Given the description of an element on the screen output the (x, y) to click on. 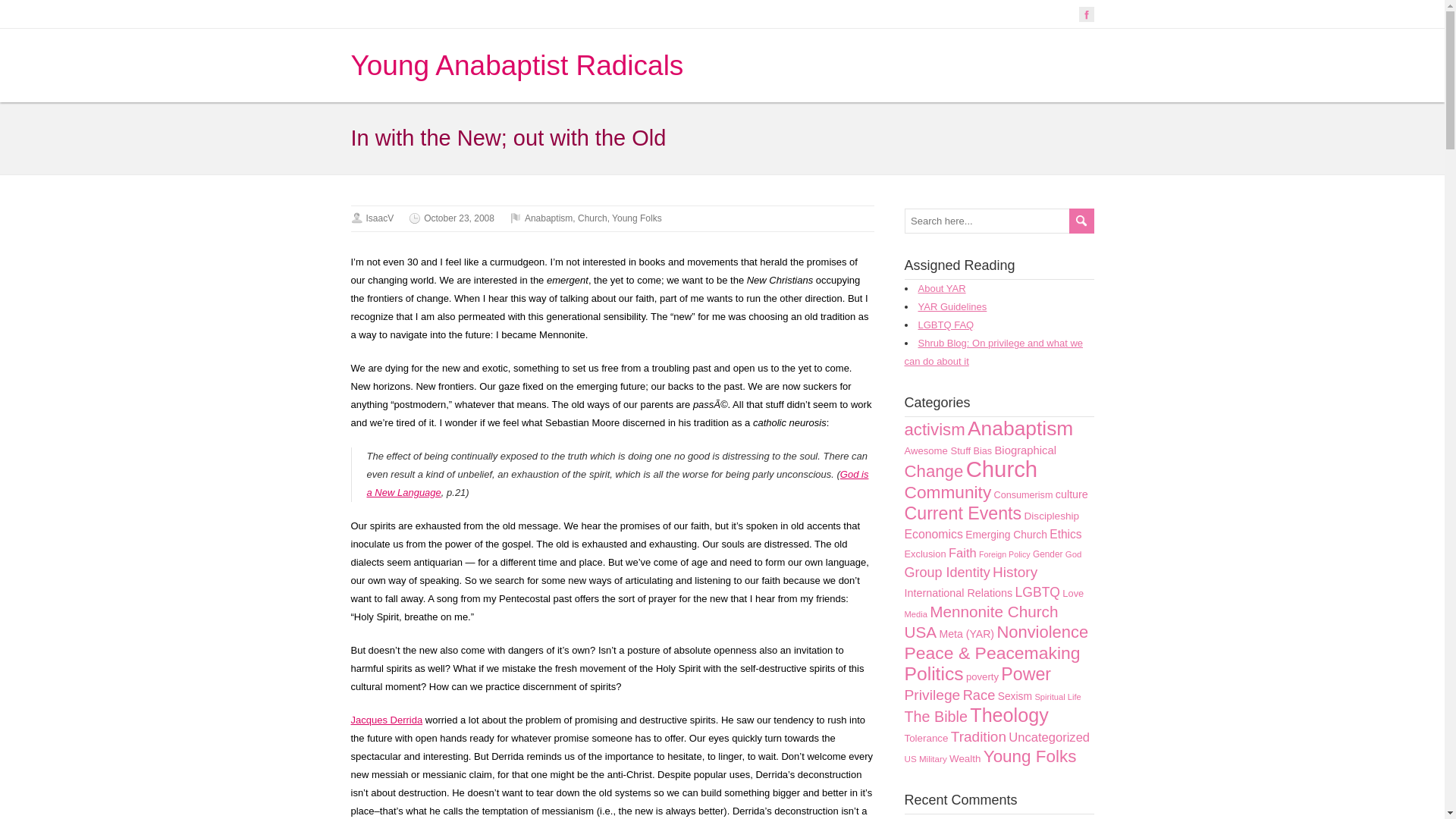
Current Events (963, 513)
YAR Guidelines (952, 306)
activism (933, 429)
Church (1002, 468)
LGBTQ FAQ (945, 324)
culture (1071, 494)
Ethics (1065, 533)
Posts by IsaacV (379, 217)
LGBTQ FAQ (945, 324)
God (1073, 553)
